Given the description of an element on the screen output the (x, y) to click on. 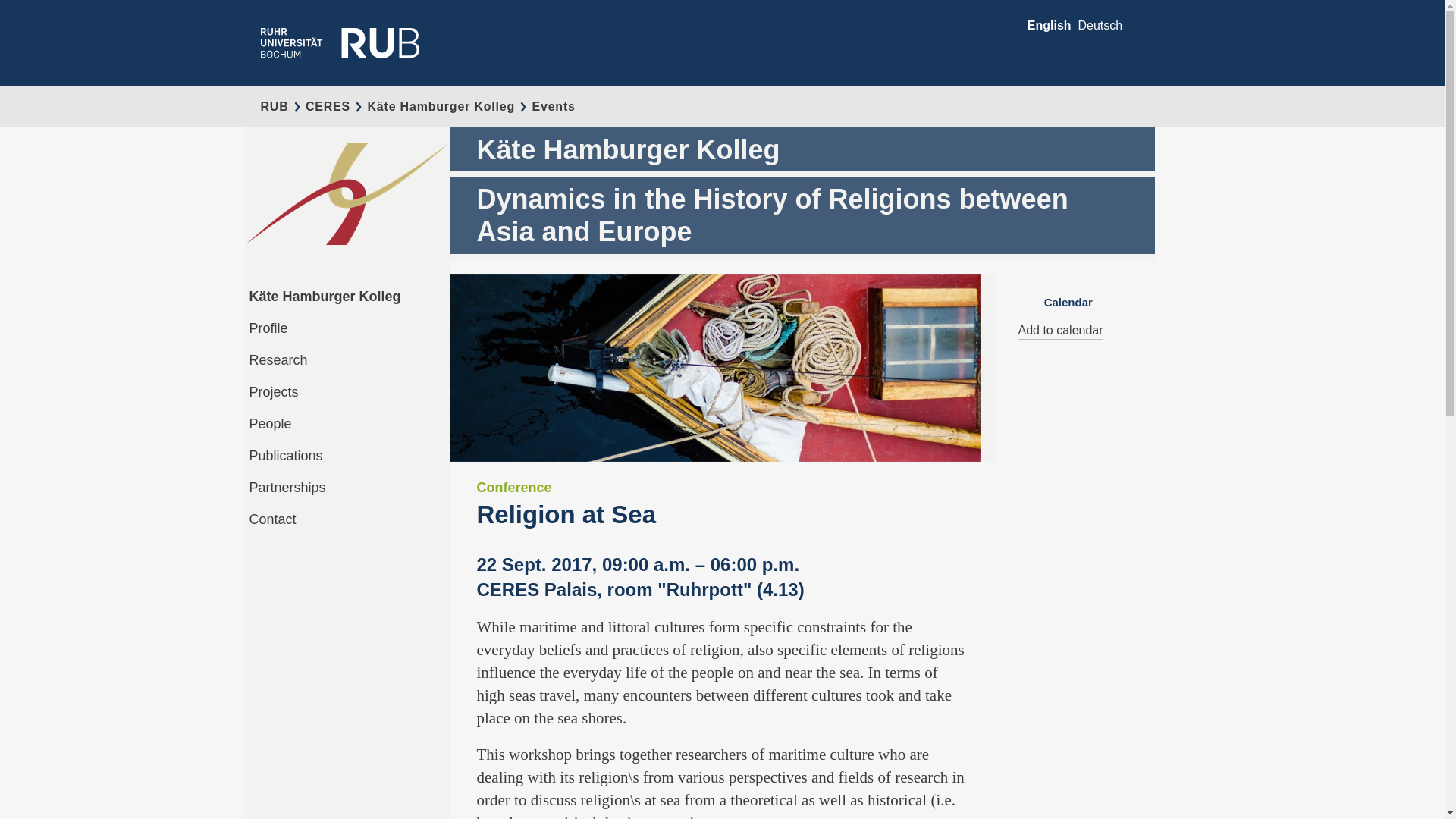
Contact (271, 519)
Deutsch (1099, 24)
Research (277, 359)
Change to language: Deutsch (1099, 24)
Publications (284, 455)
Partnerships (286, 487)
People (269, 423)
Projects (273, 391)
Add to calendar (1059, 329)
CERES (327, 106)
